Given the description of an element on the screen output the (x, y) to click on. 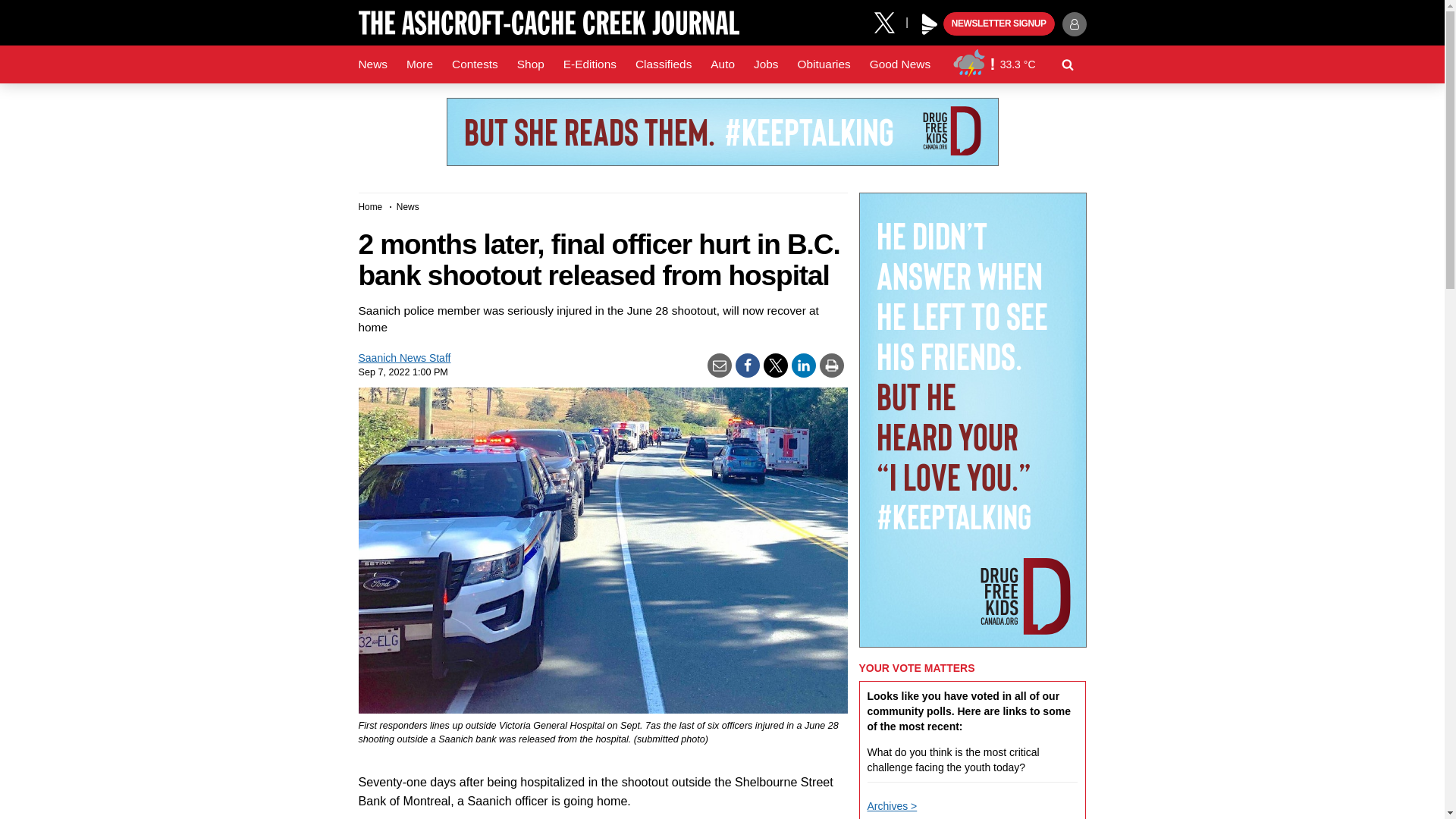
NEWSLETTER SIGNUP (998, 24)
3rd party ad content (721, 131)
News (372, 64)
Play (929, 24)
Black Press Media (929, 24)
X (889, 21)
